Given the description of an element on the screen output the (x, y) to click on. 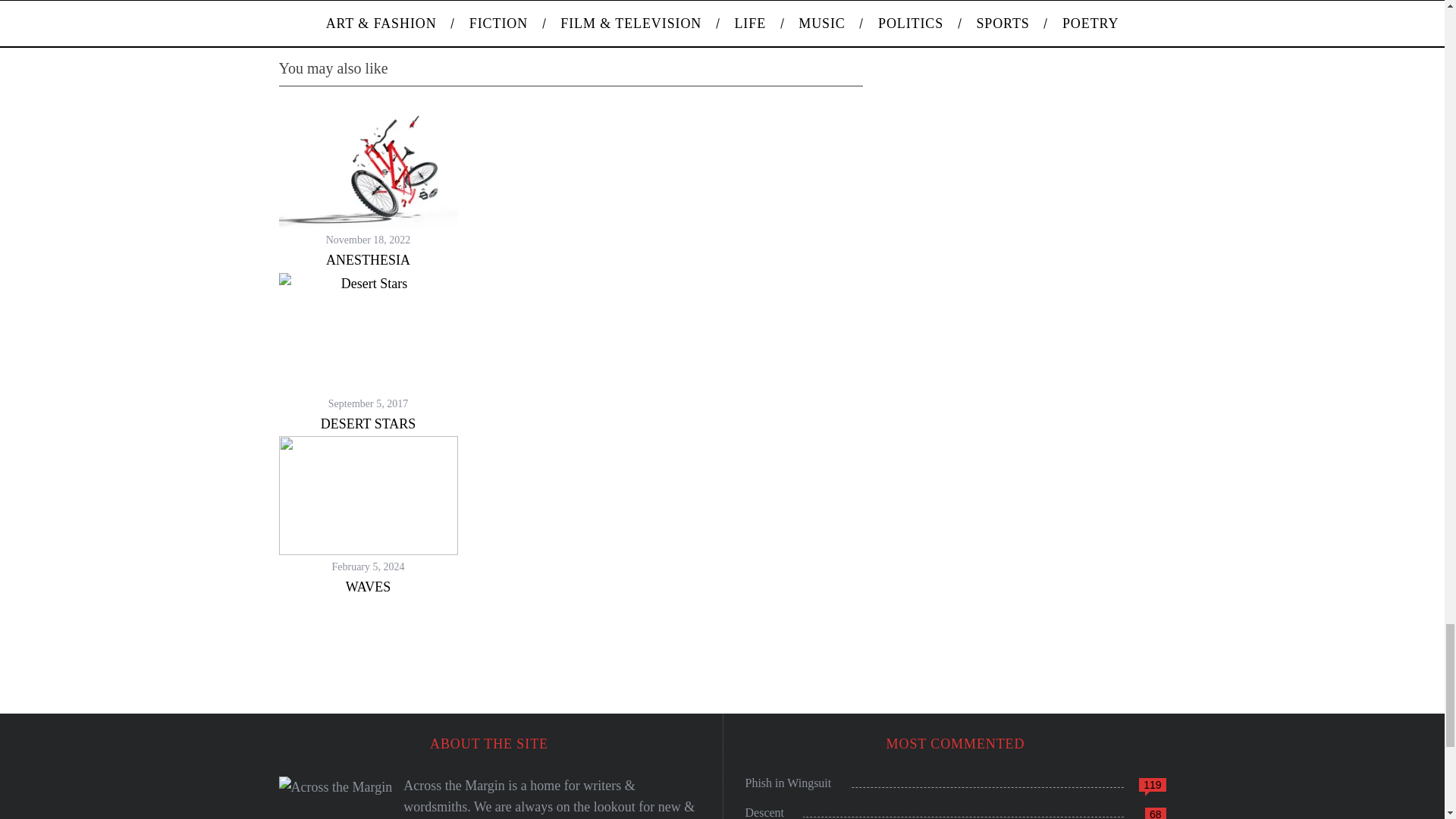
DESERT STARS (368, 423)
WAVES (368, 586)
ANESTHESIA (368, 259)
